Given the description of an element on the screen output the (x, y) to click on. 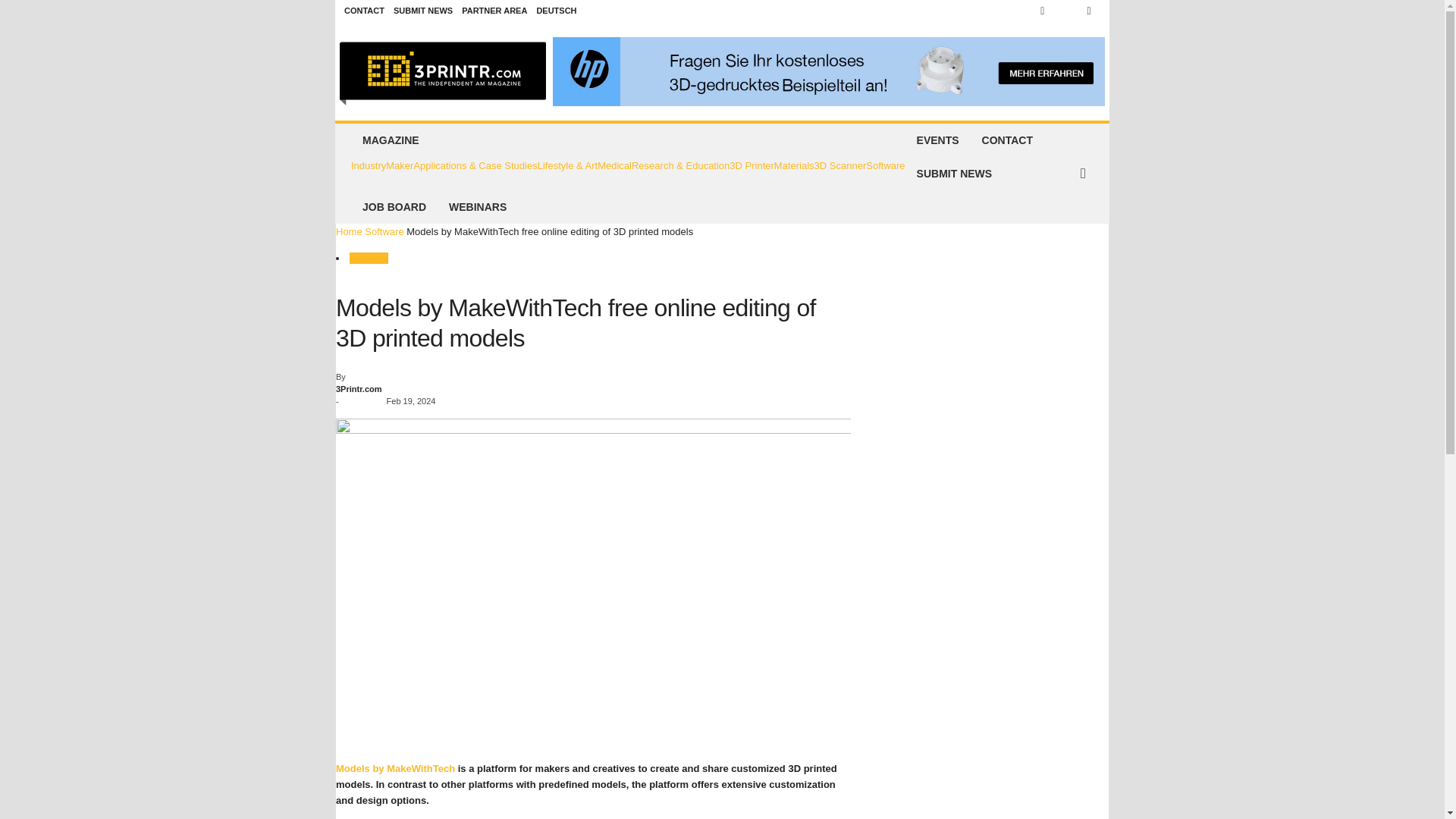
Maker (399, 166)
SUBMIT NEWS (422, 10)
DEUTSCH (555, 10)
MAGAZINE (627, 140)
View all posts in Software (384, 231)
Medical (613, 166)
CONTACT (363, 10)
PARTNER AREA (494, 10)
3Printr.com (442, 70)
